Given the description of an element on the screen output the (x, y) to click on. 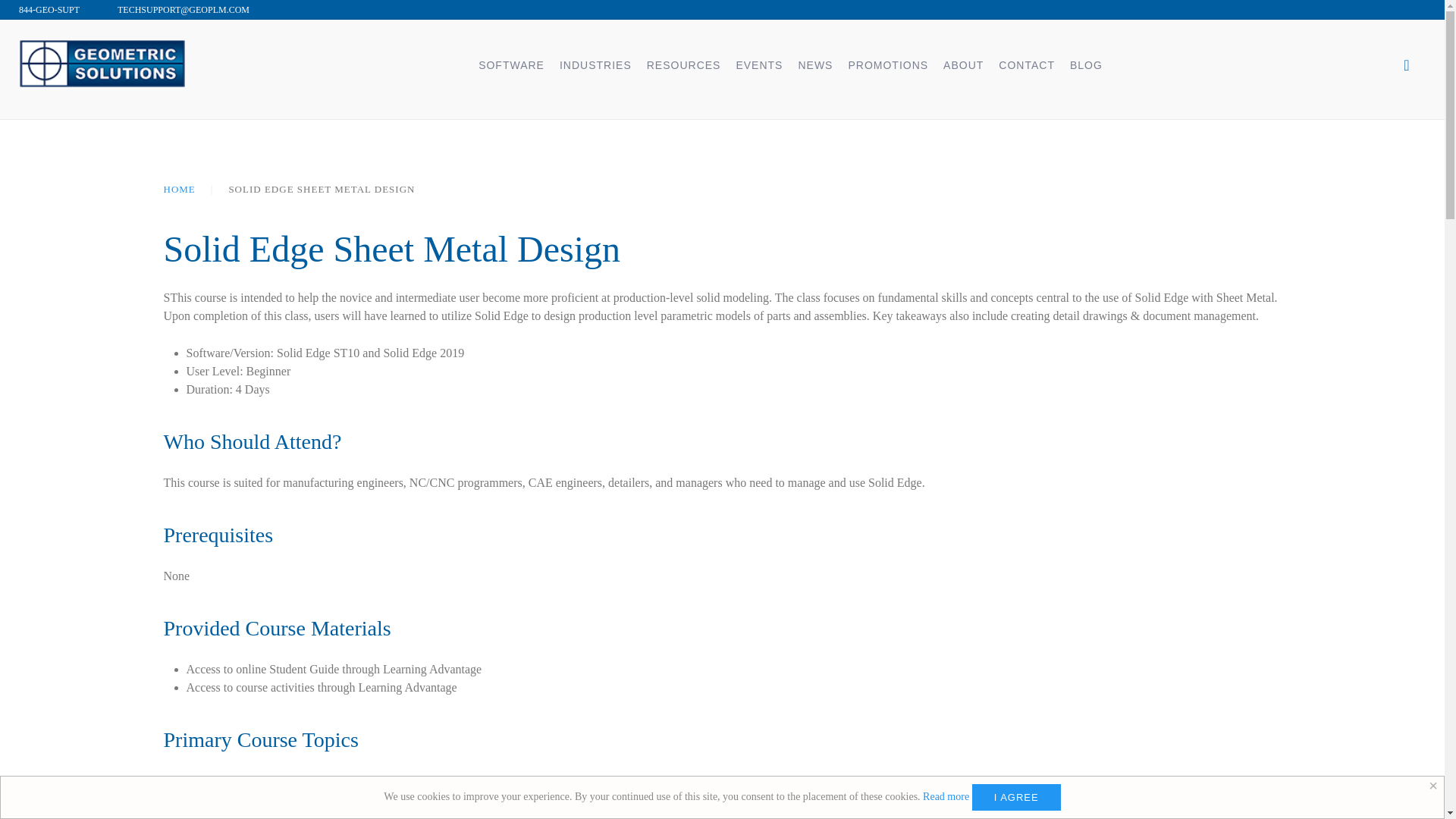
844-GEO-SUPT (49, 9)
SOFTWARE (510, 63)
RESOURCES (684, 63)
INDUSTRIES (595, 63)
